Given the description of an element on the screen output the (x, y) to click on. 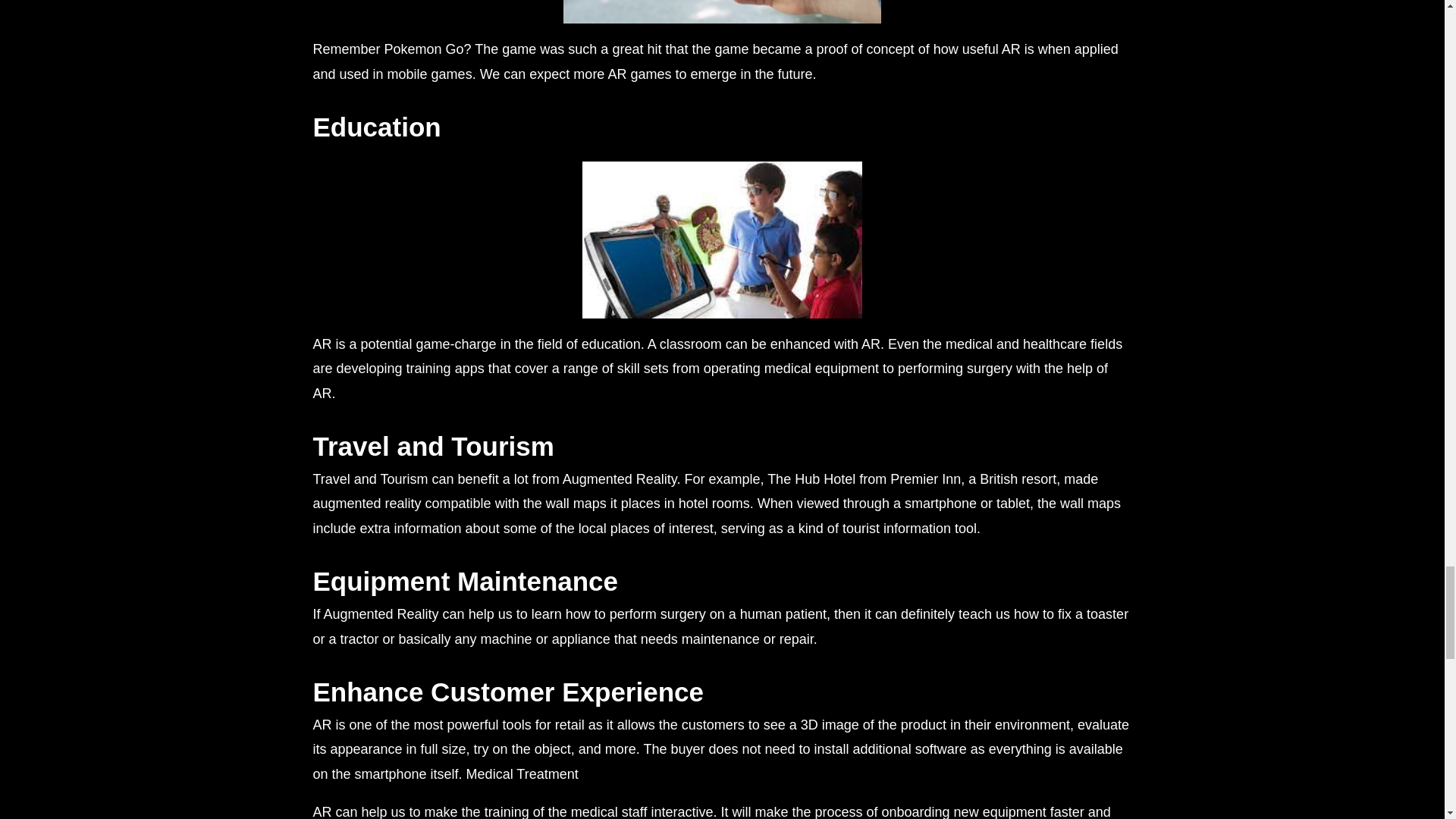
Augmented Reality for Dummies 5 (721, 239)
Augmented Reality for Dummies 4 (721, 12)
